Given the description of an element on the screen output the (x, y) to click on. 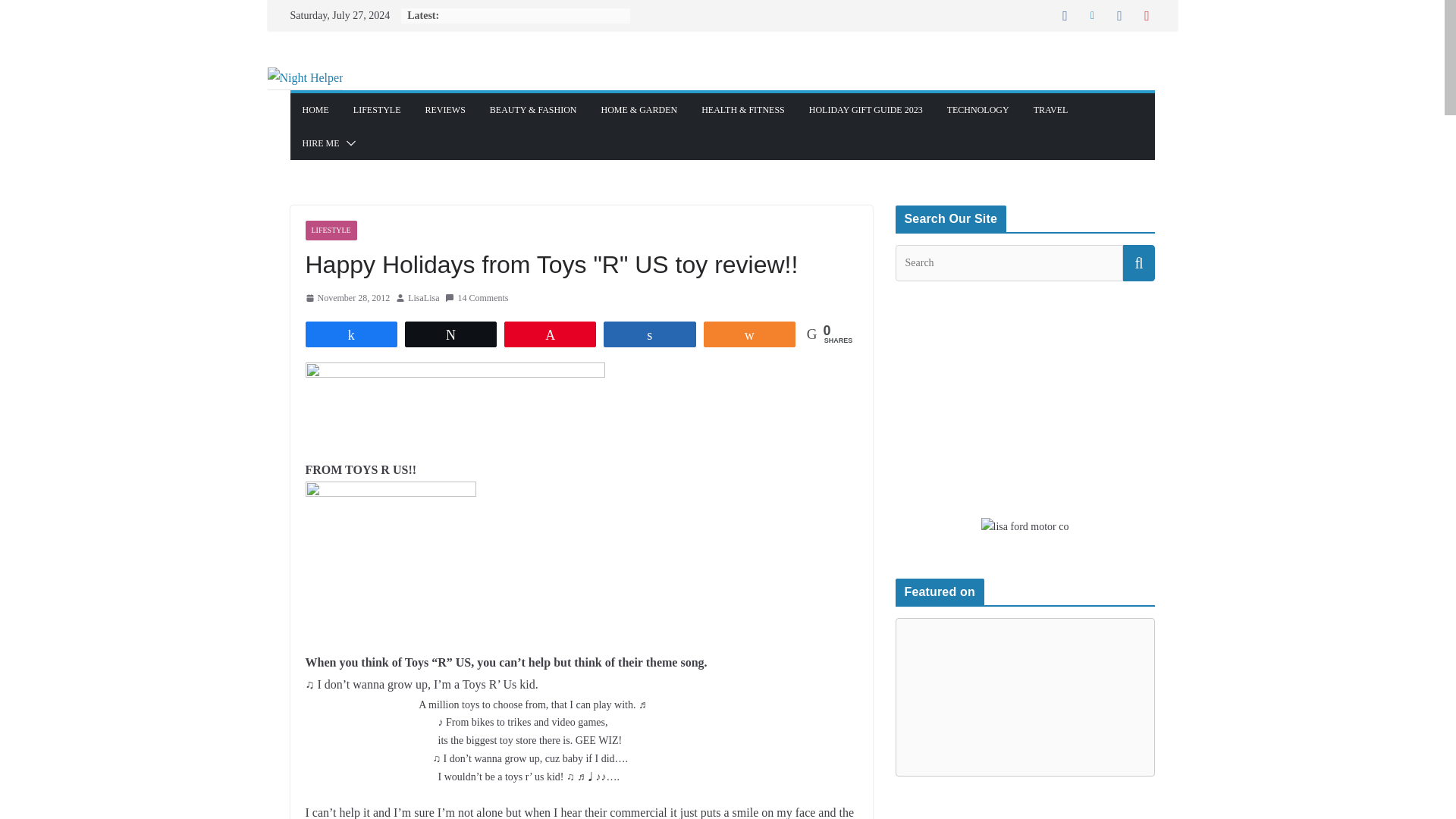
HIRE ME (320, 143)
Night Helper (304, 77)
HOLIDAY GIFT GUIDE 2023 (866, 109)
HOME (315, 109)
2:41 pm (347, 298)
REVIEWS (445, 109)
LIFESTYLE (377, 109)
14 Comments (476, 298)
November 28, 2012 (347, 298)
LIFESTYLE (330, 230)
LisaLisa (423, 298)
LisaLisa (423, 298)
TECHNOLOGY (978, 109)
TRAVEL (1050, 109)
